Given the description of an element on the screen output the (x, y) to click on. 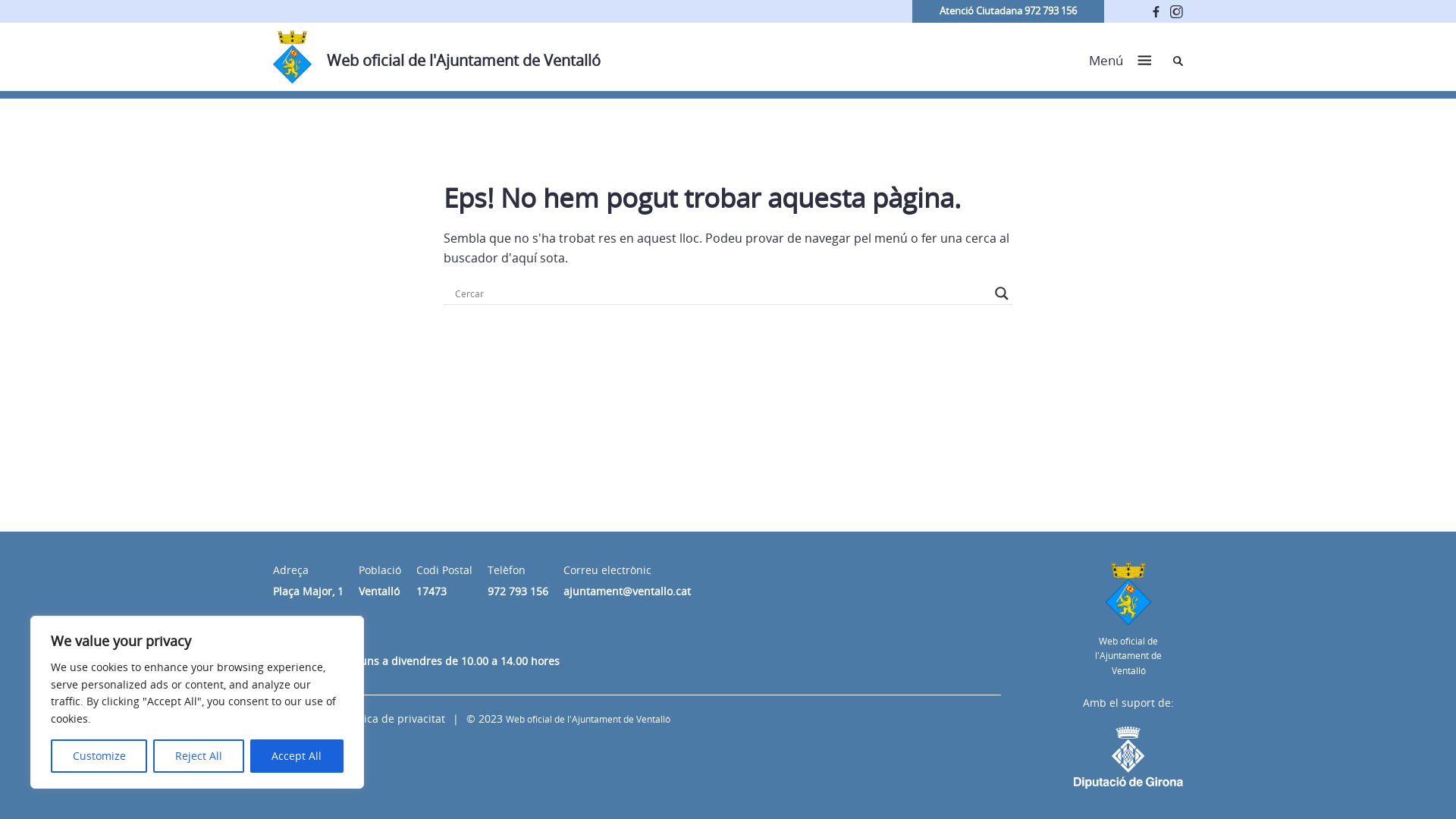
Customize Element type: text (98, 755)
Accept All Element type: text (296, 755)
ajuntament@ventallo.cat Element type: text (626, 590)
972 793 156 Element type: text (517, 590)
Cerca Element type: text (1178, 60)
Reject All Element type: text (198, 755)
